Given the description of an element on the screen output the (x, y) to click on. 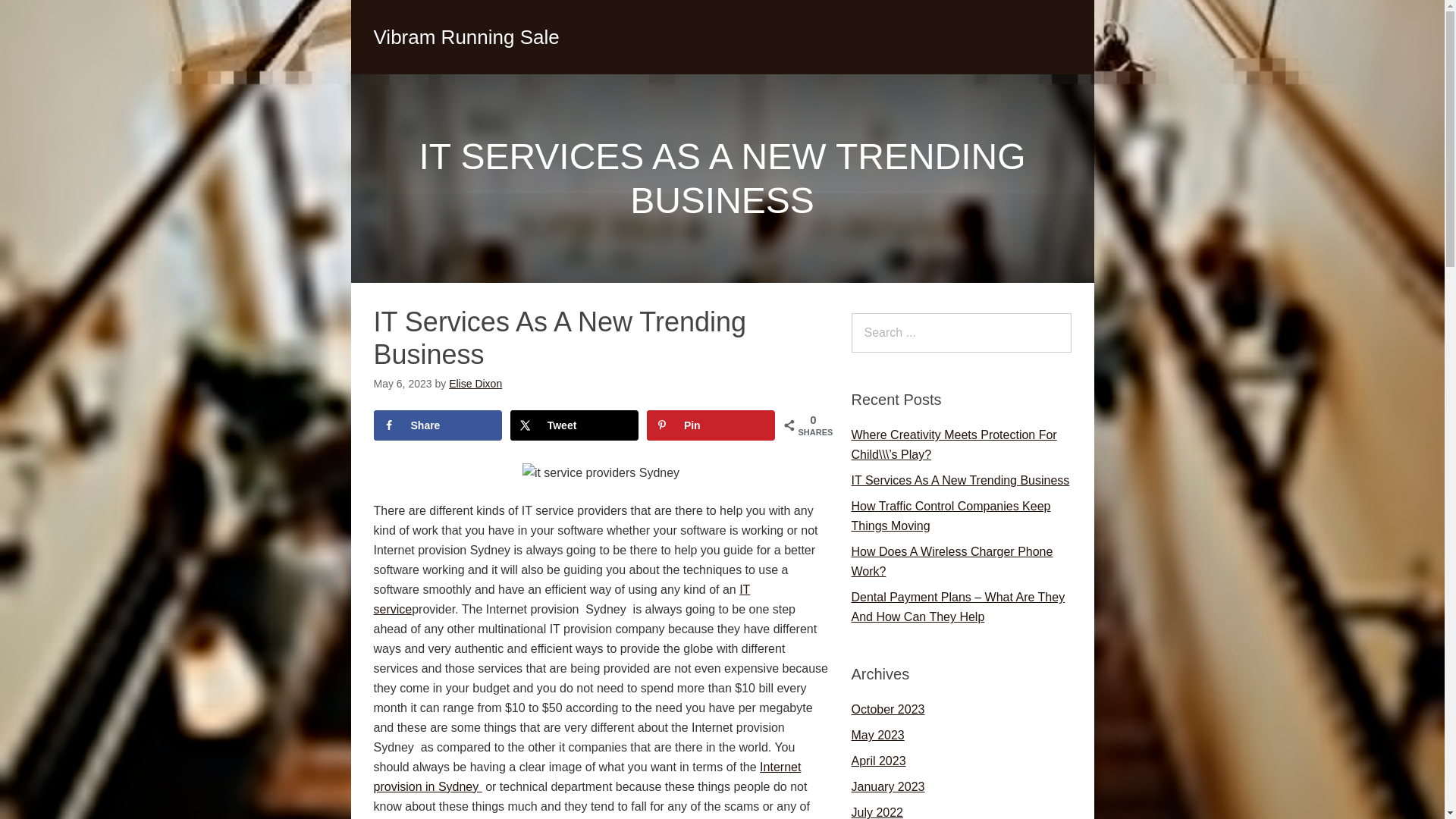
Vibram Running Sale (465, 36)
Saturday, May 6, 2023, 6:21 am (401, 383)
Posts by Elise Dixon (475, 383)
IT service (560, 598)
April 2023 (877, 760)
July 2022 (876, 812)
it service providers Sydney (600, 472)
Share on Facebook (437, 425)
Save to Pinterest (711, 425)
